Given the description of an element on the screen output the (x, y) to click on. 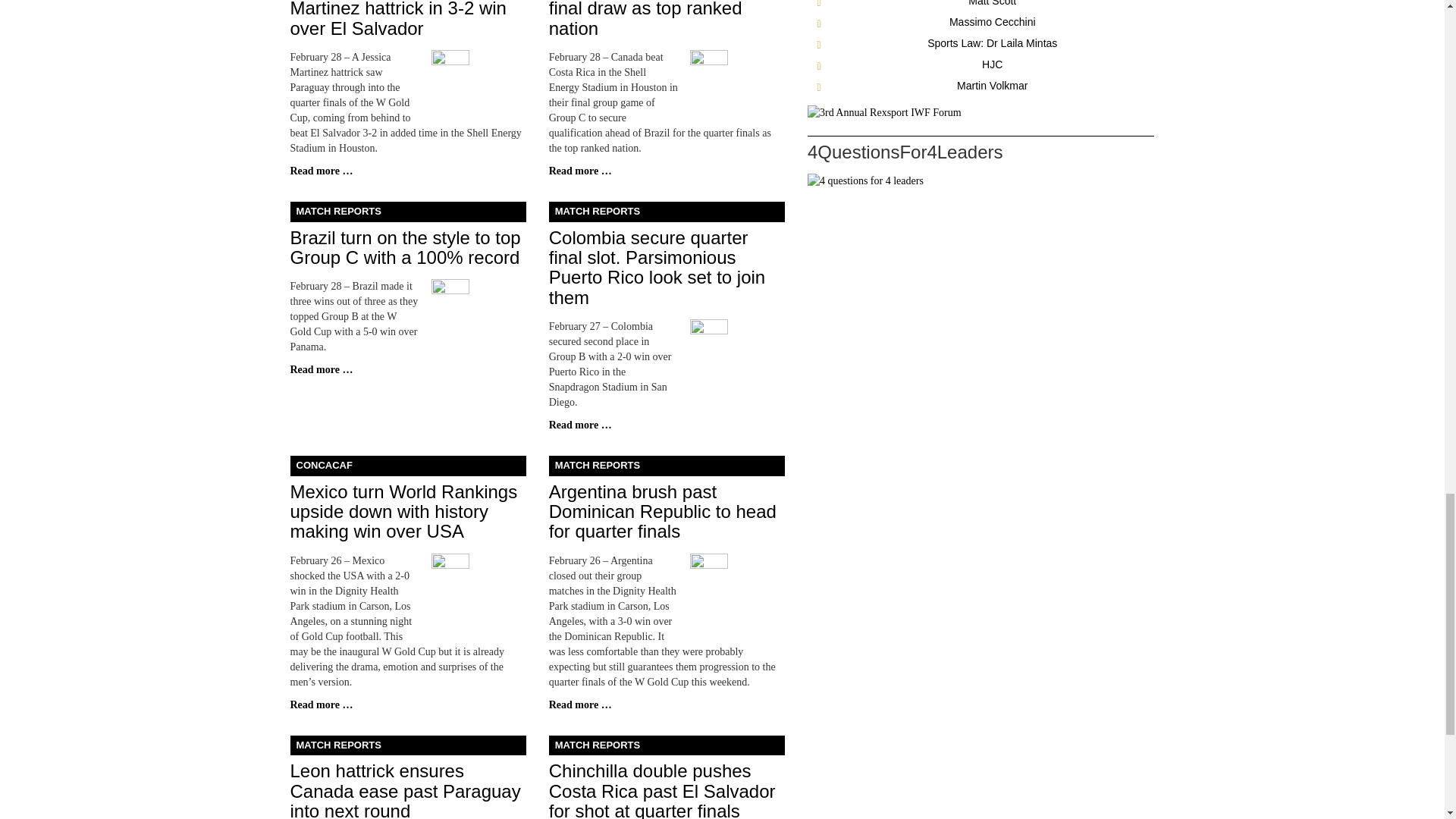
MATCH REPORTS (666, 211)
MATCH REPORTS (407, 211)
